Given the description of an element on the screen output the (x, y) to click on. 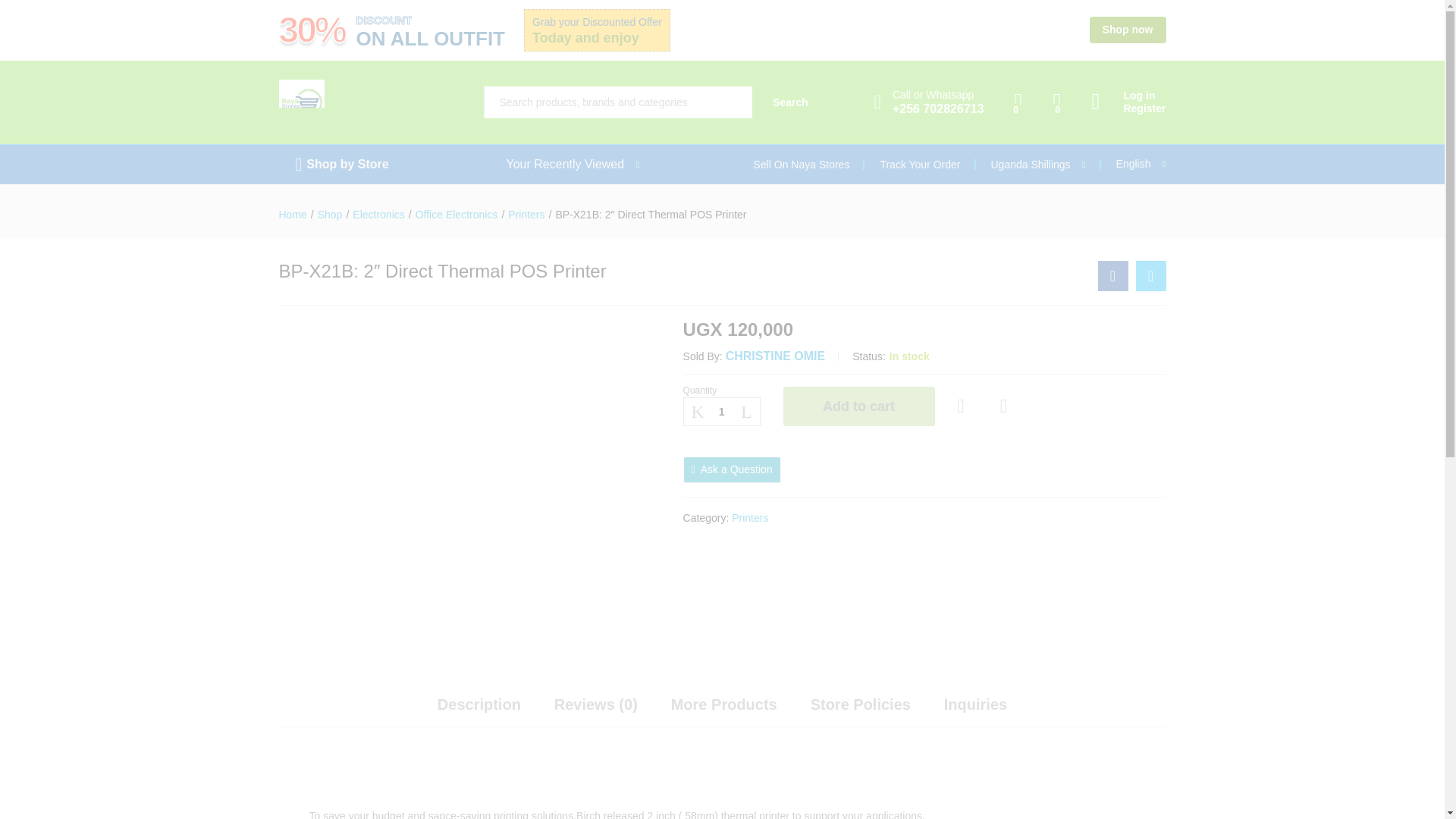
Shop now (1127, 29)
Add to wishlist (962, 406)
Compare (1003, 406)
1 (721, 411)
Qty (721, 411)
